Given the description of an element on the screen output the (x, y) to click on. 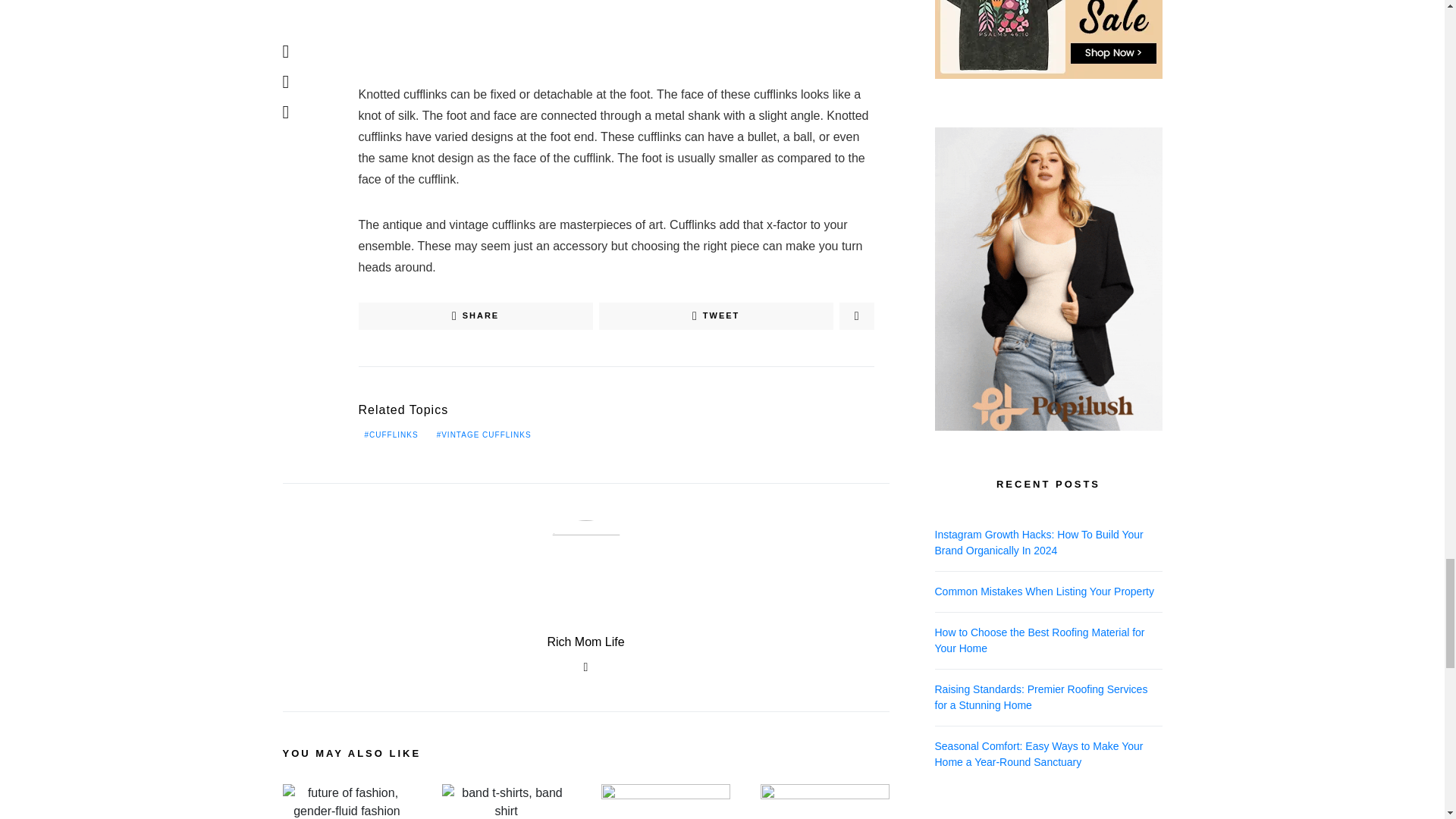
TWEET (715, 316)
SHARE (475, 316)
CUFFLINKS (390, 434)
